Given the description of an element on the screen output the (x, y) to click on. 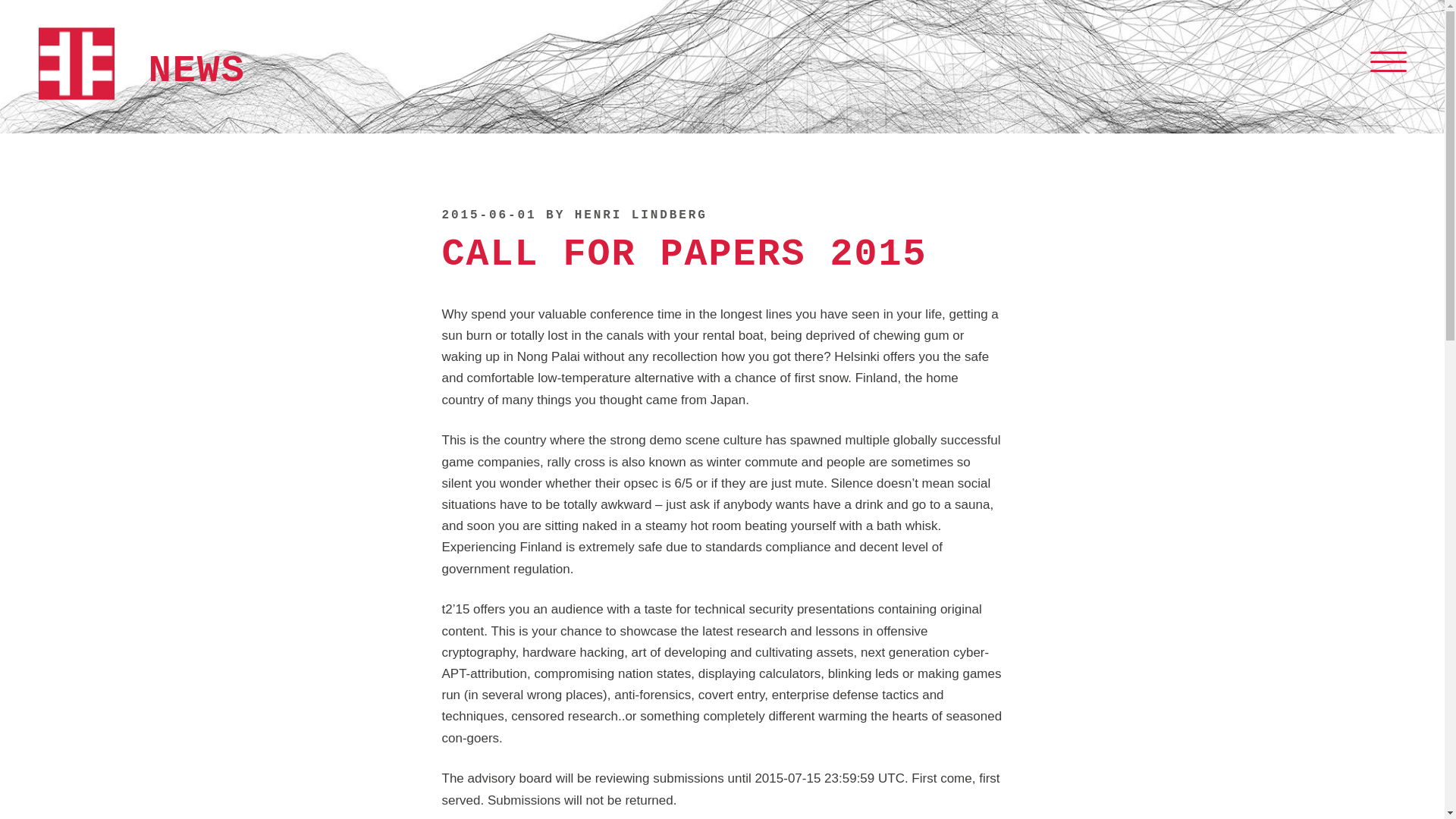
2015-06-01 (488, 214)
HENRI LINDBERG (641, 214)
